Given the description of an element on the screen output the (x, y) to click on. 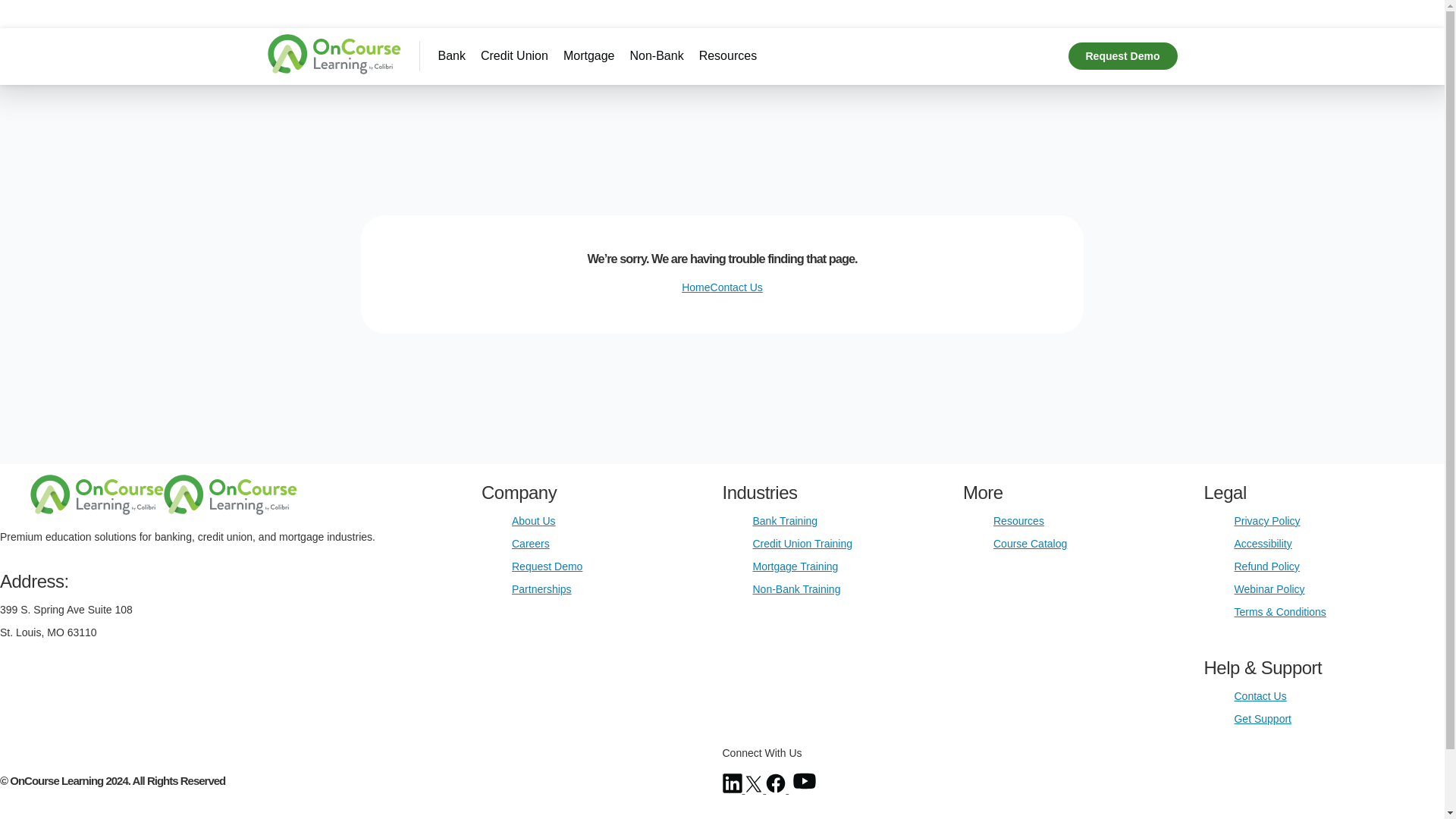
Request Demo (1121, 55)
Webinar Policy (1268, 589)
Contact Us (736, 287)
Request Demo (547, 566)
Non-Bank (655, 55)
Mortgage Training (795, 566)
Resources (727, 55)
About Us (534, 521)
Accessibility (1262, 543)
Resources (1017, 521)
